Given the description of an element on the screen output the (x, y) to click on. 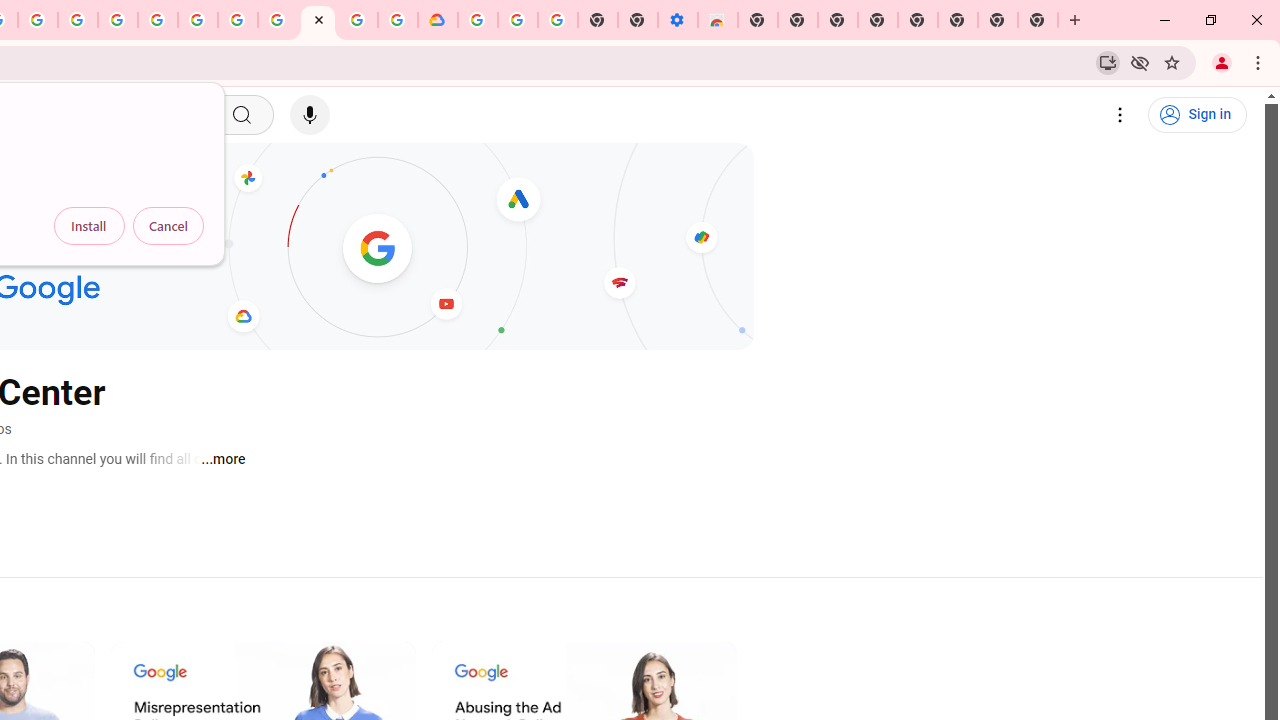
Google Account Help (237, 20)
Chrome Web Store - Accessibility extensions (717, 20)
Create your Google Account (37, 20)
Turn cookies on or off - Computer - Google Account Help (557, 20)
Browse the Google Chrome Community - Google Chrome Community (397, 20)
Google Transparency Center - YouTube (317, 20)
Sign in - Google Accounts (477, 20)
Settings - Accessibility (677, 20)
Ad Settings (118, 20)
